Given the description of an element on the screen output the (x, y) to click on. 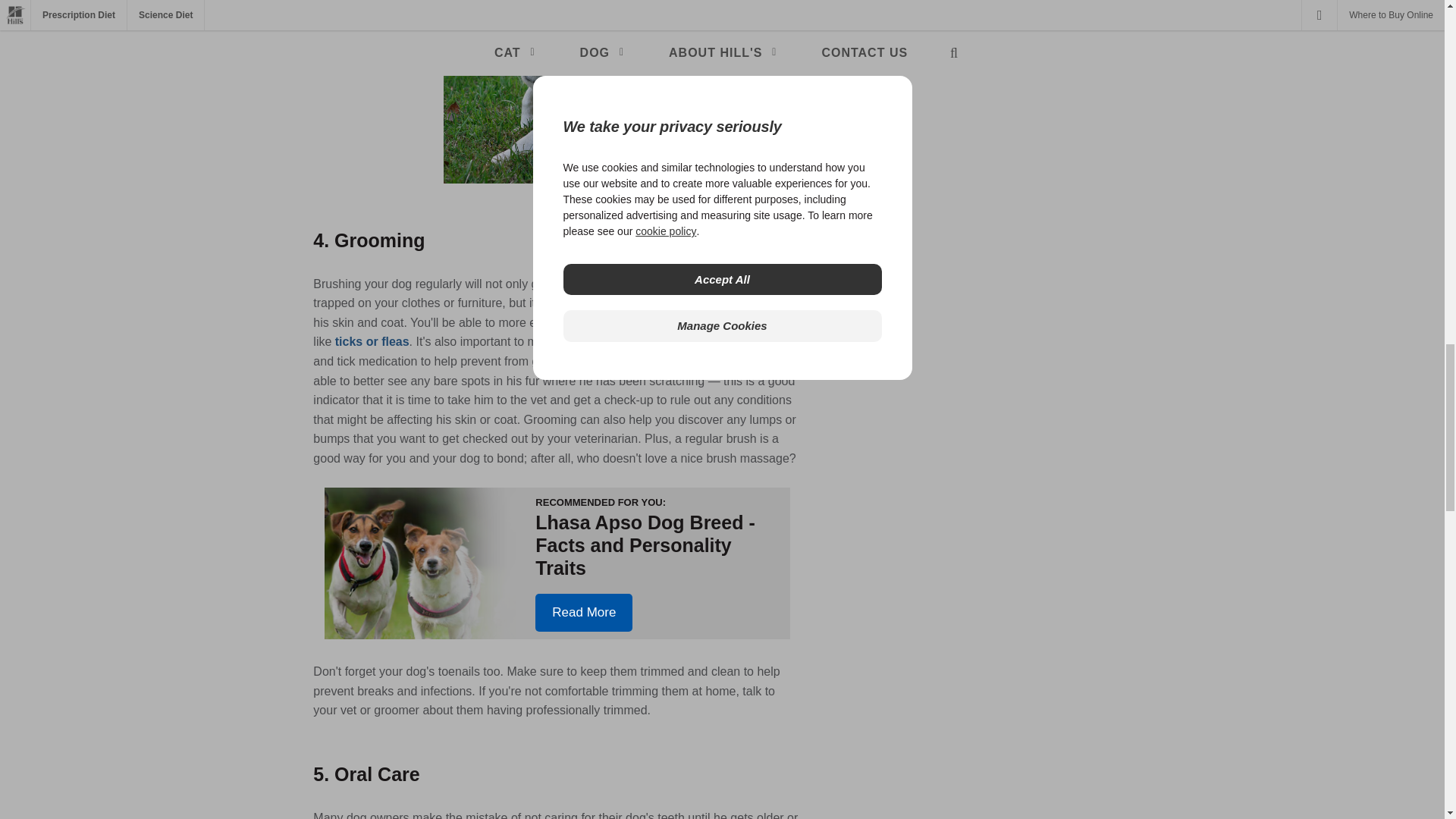
siberian-husky-scratching (557, 91)
